Given the description of an element on the screen output the (x, y) to click on. 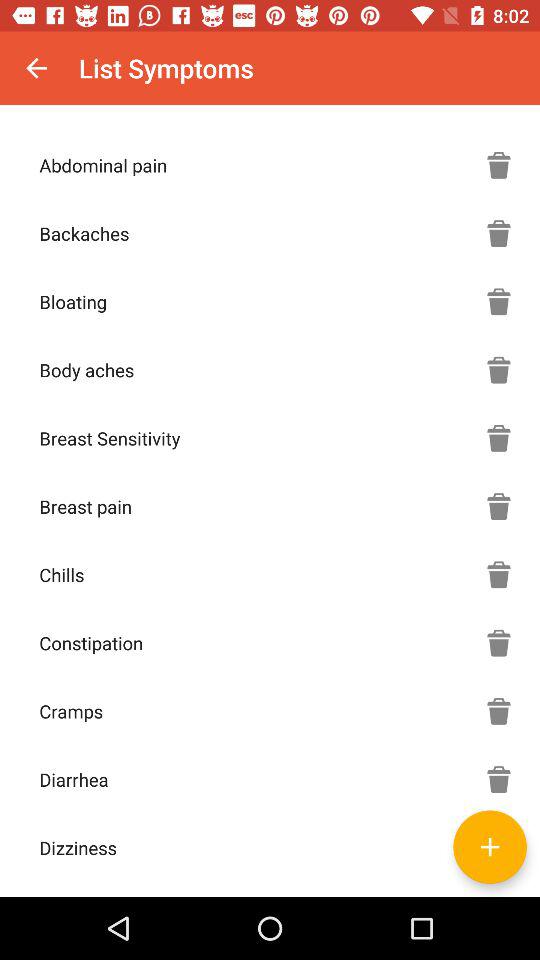
activates dizziness function (499, 847)
